Given the description of an element on the screen output the (x, y) to click on. 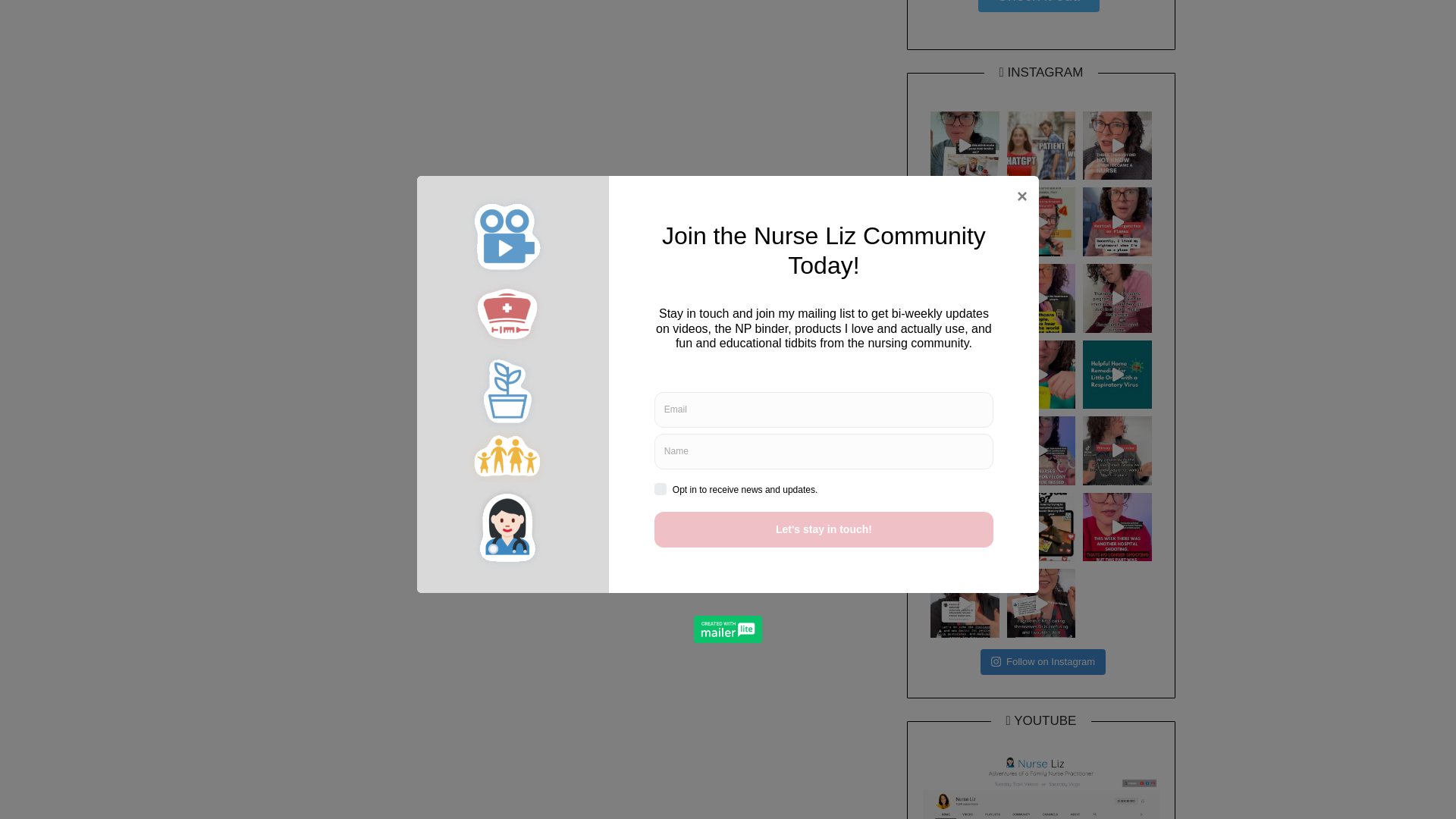
Check it out! (1038, 6)
